Given the description of an element on the screen output the (x, y) to click on. 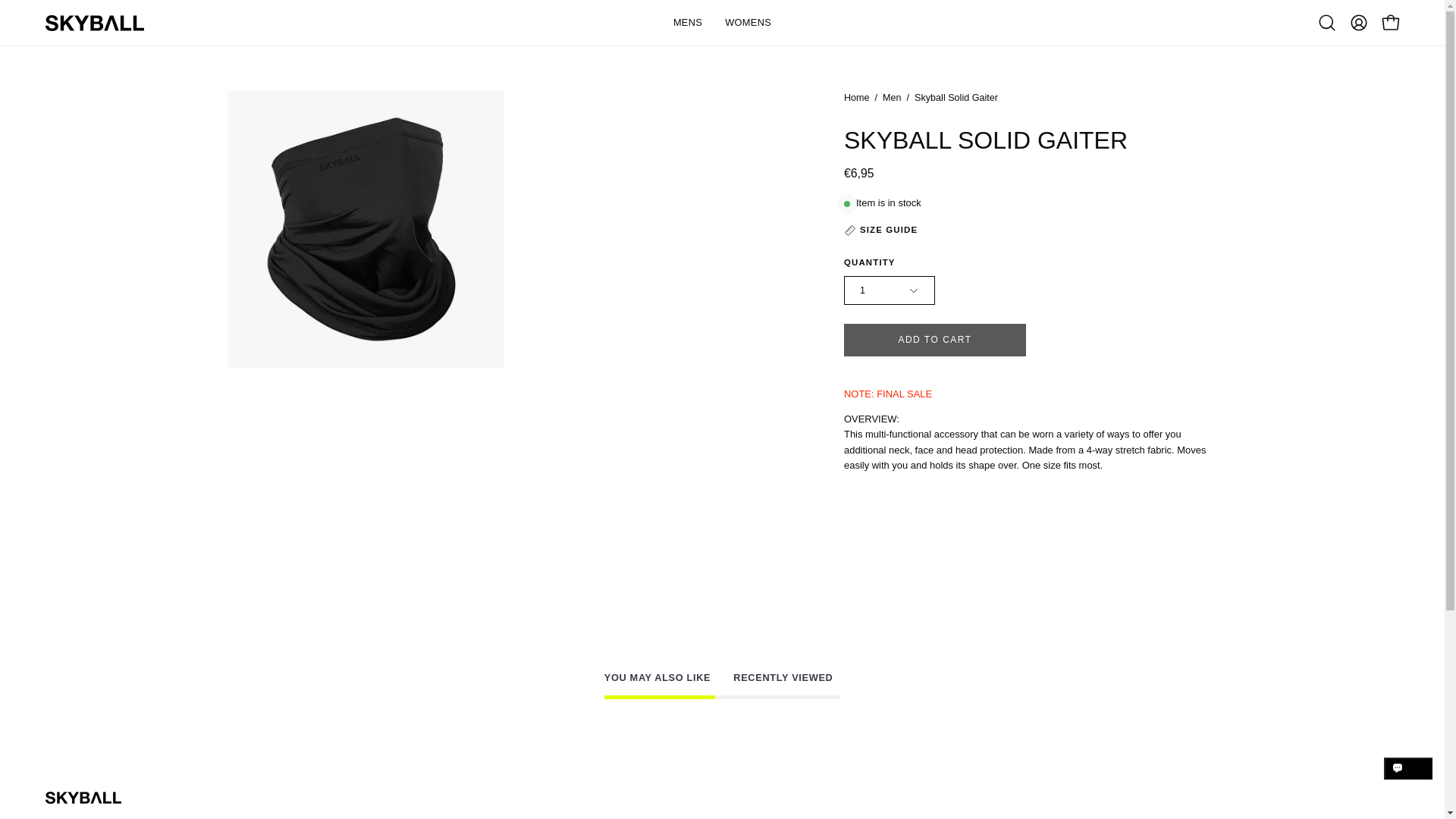
Open search bar (1326, 22)
Go back to Home page (856, 98)
